Given the description of an element on the screen output the (x, y) to click on. 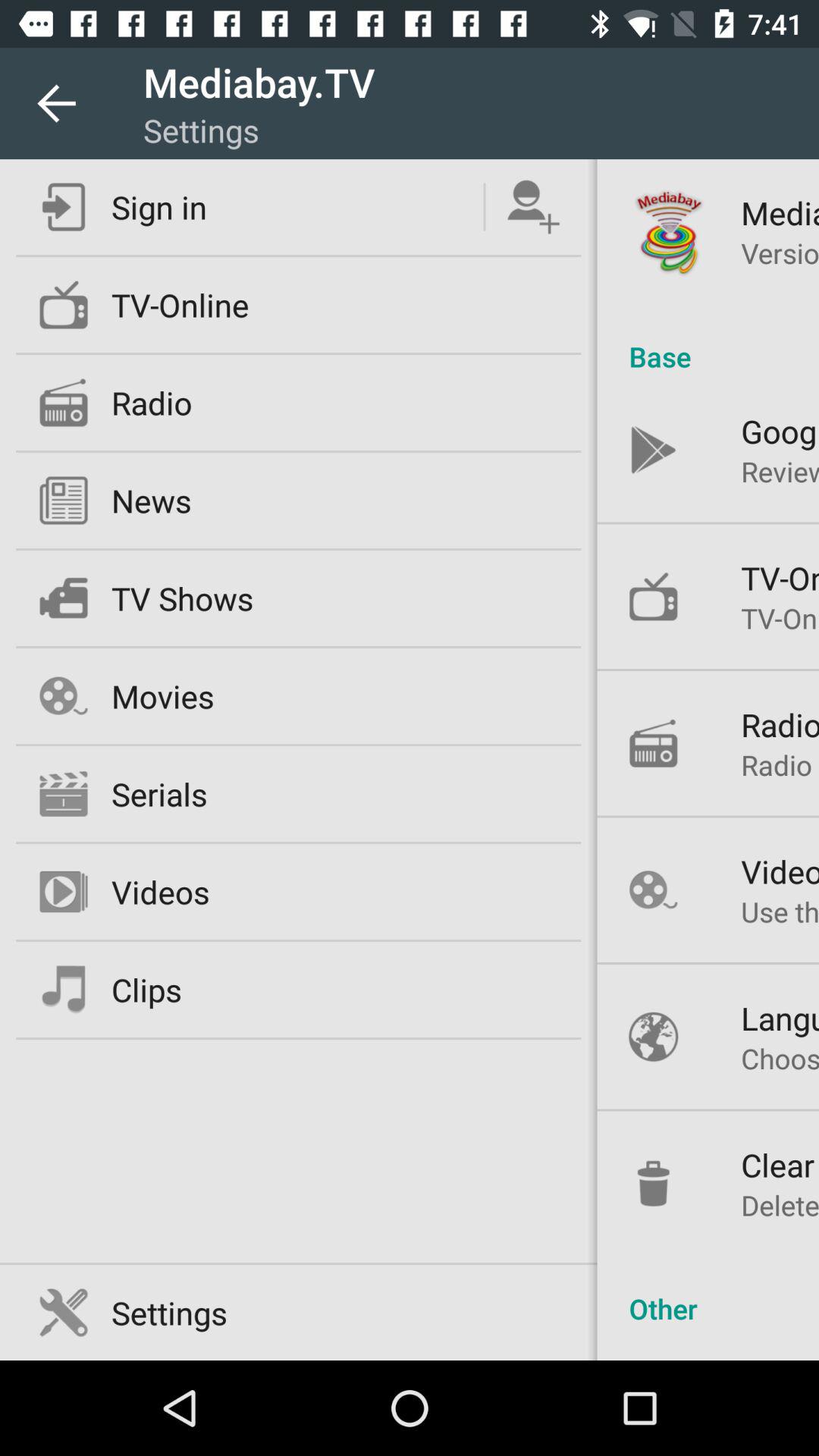
jump to the tv shows item (182, 597)
